Given the description of an element on the screen output the (x, y) to click on. 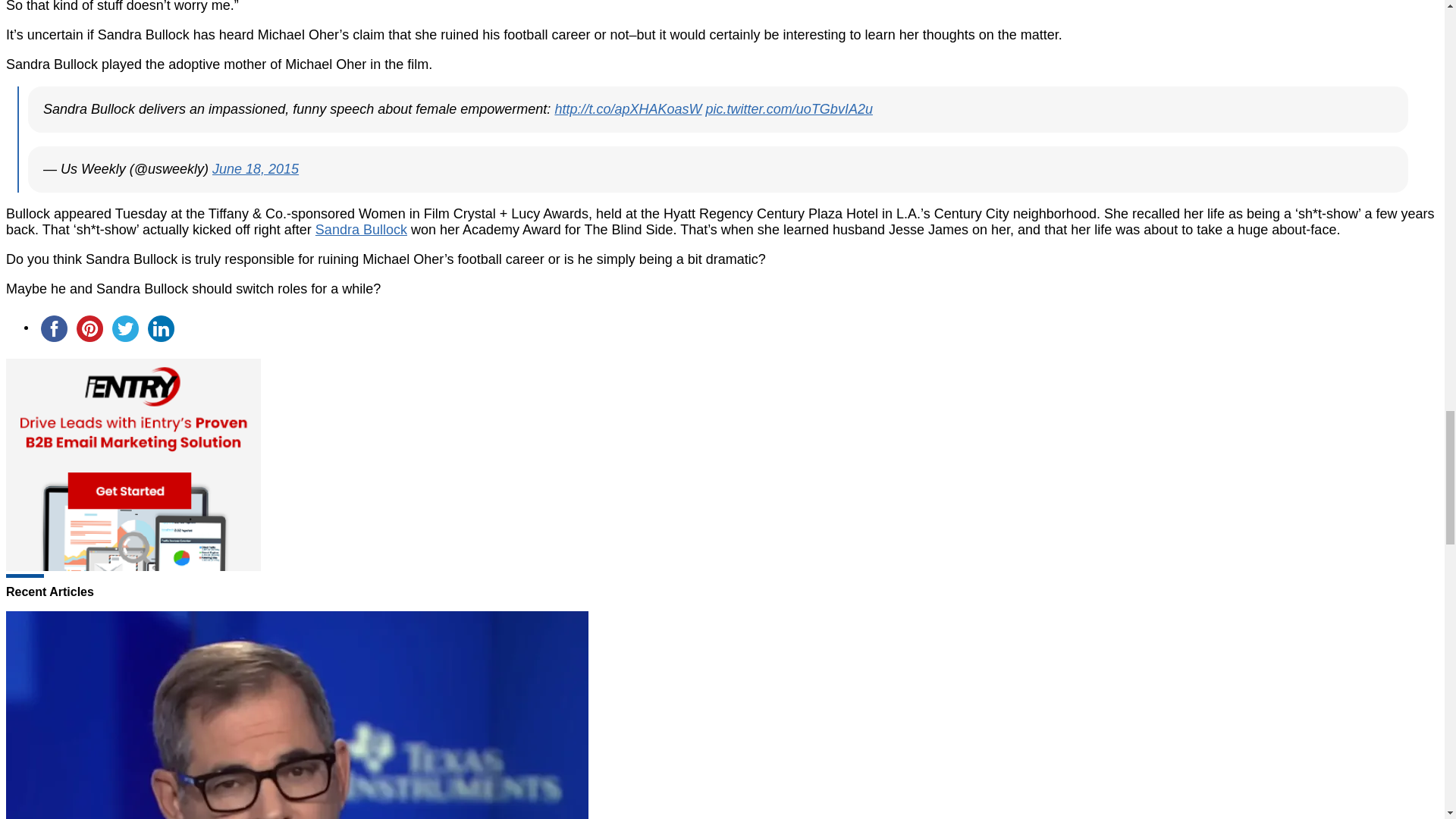
pinterest (89, 328)
twitter (124, 328)
facebook (53, 328)
